Given the description of an element on the screen output the (x, y) to click on. 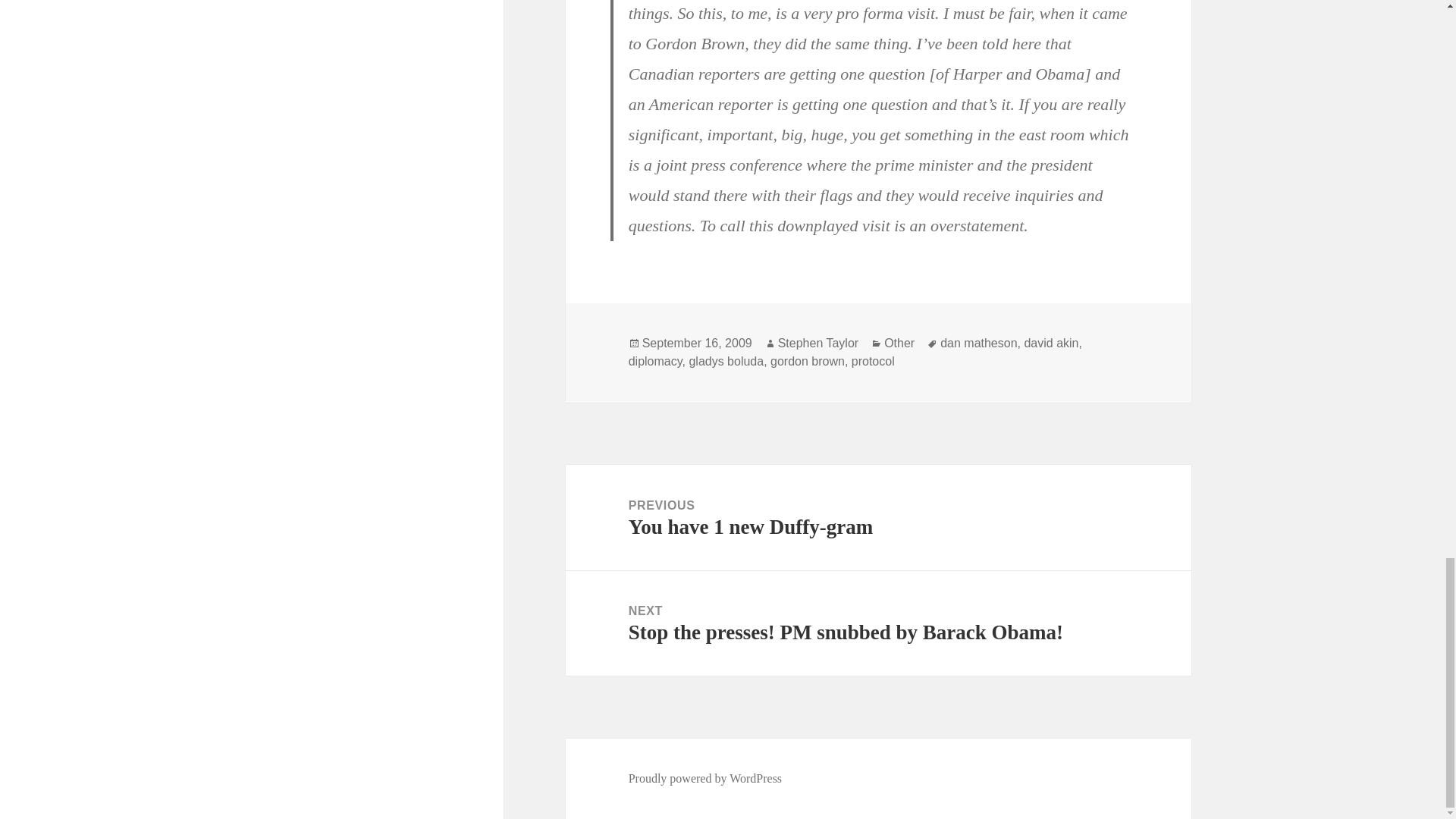
gladys boluda (725, 361)
Proudly powered by WordPress (704, 778)
protocol (878, 517)
david akin (873, 361)
diplomacy (1050, 343)
Stephen Taylor (655, 361)
gordon brown (818, 343)
Other (807, 361)
September 16, 2009 (898, 343)
dan matheson (697, 343)
